Given the description of an element on the screen output the (x, y) to click on. 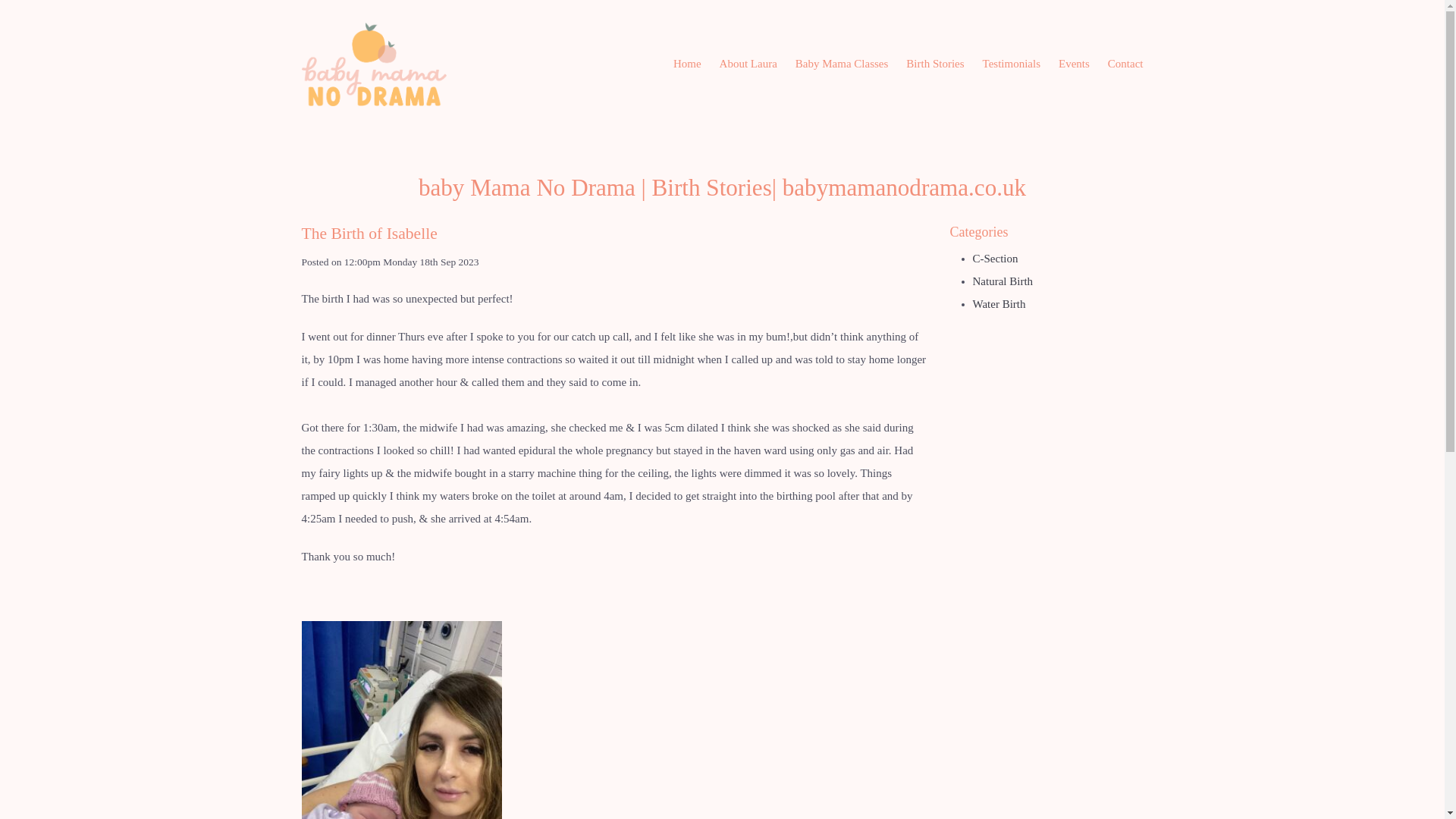
Christchurch UK antenatal class (401, 719)
About Laura (748, 63)
Contact (1126, 63)
Home (686, 63)
Birth Stories (934, 63)
Baby Mama Classes (841, 63)
Testimonials (1011, 63)
Water Birth (998, 304)
Natural Birth (1002, 281)
C-Section (994, 258)
